Given the description of an element on the screen output the (x, y) to click on. 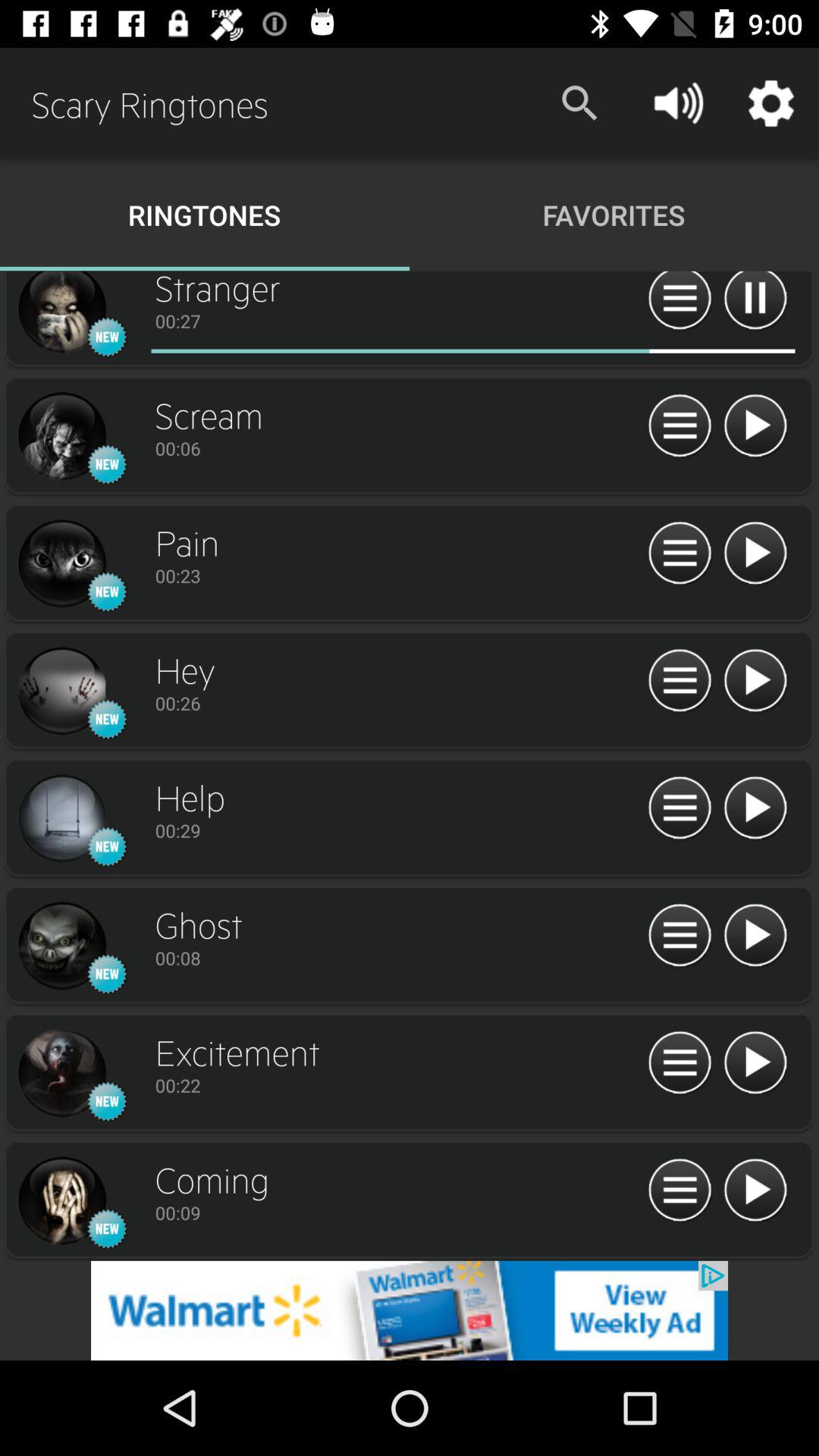
select the audio play (755, 1063)
